Given the description of an element on the screen output the (x, y) to click on. 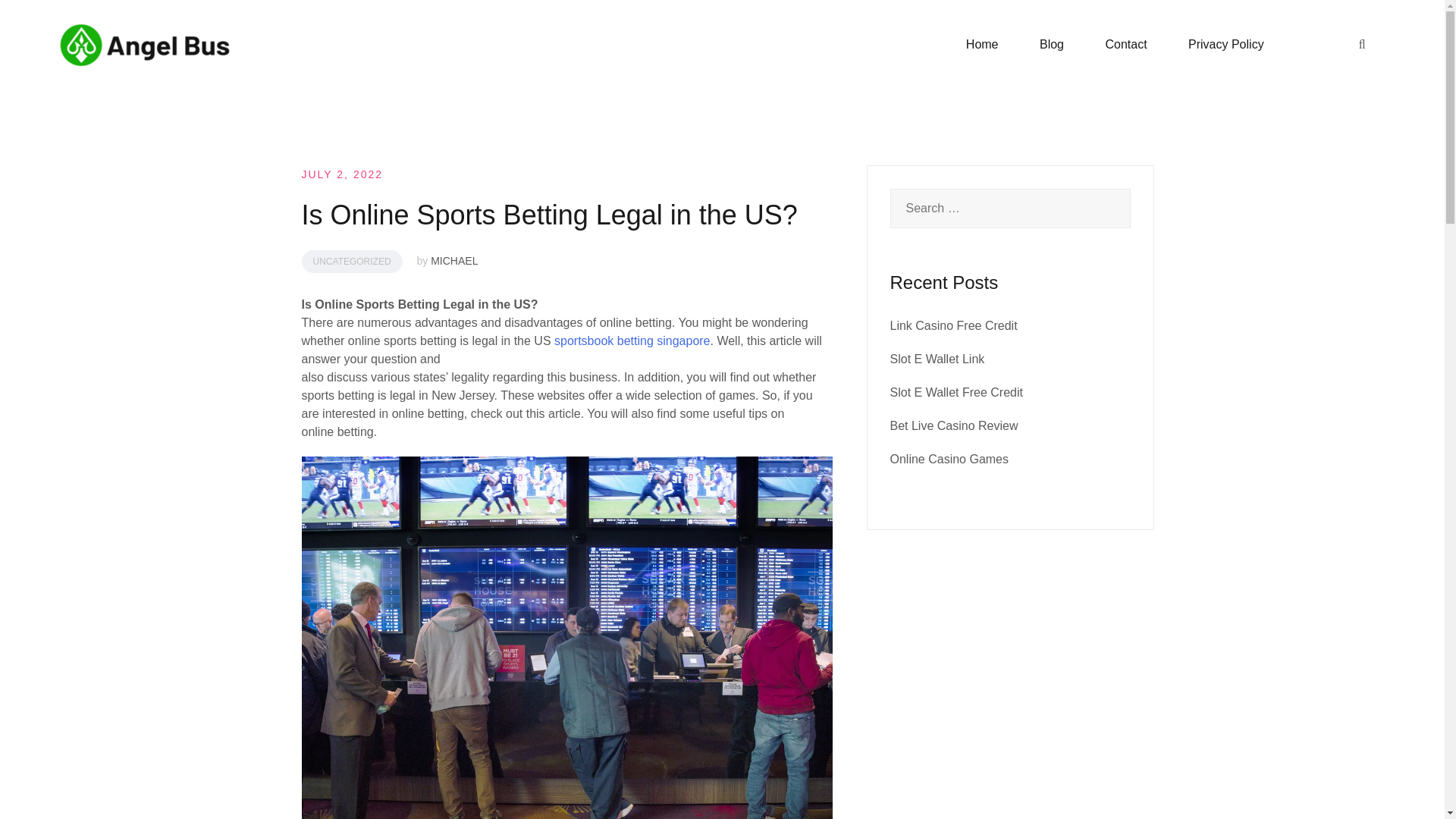
Blog (1051, 45)
Link Casino Free Credit (953, 325)
UNCATEGORIZED (352, 261)
Slot E Wallet Free Credit (956, 391)
Slot E Wallet Link (937, 358)
Privacy Policy (1225, 45)
MICHAEL (453, 260)
Online Casino Games (949, 459)
Bet Live Casino Review (953, 425)
Home (982, 45)
Search (47, 19)
Contact (1126, 45)
JULY 2, 2022 (342, 174)
sportsbook betting singapore (632, 340)
